Given the description of an element on the screen output the (x, y) to click on. 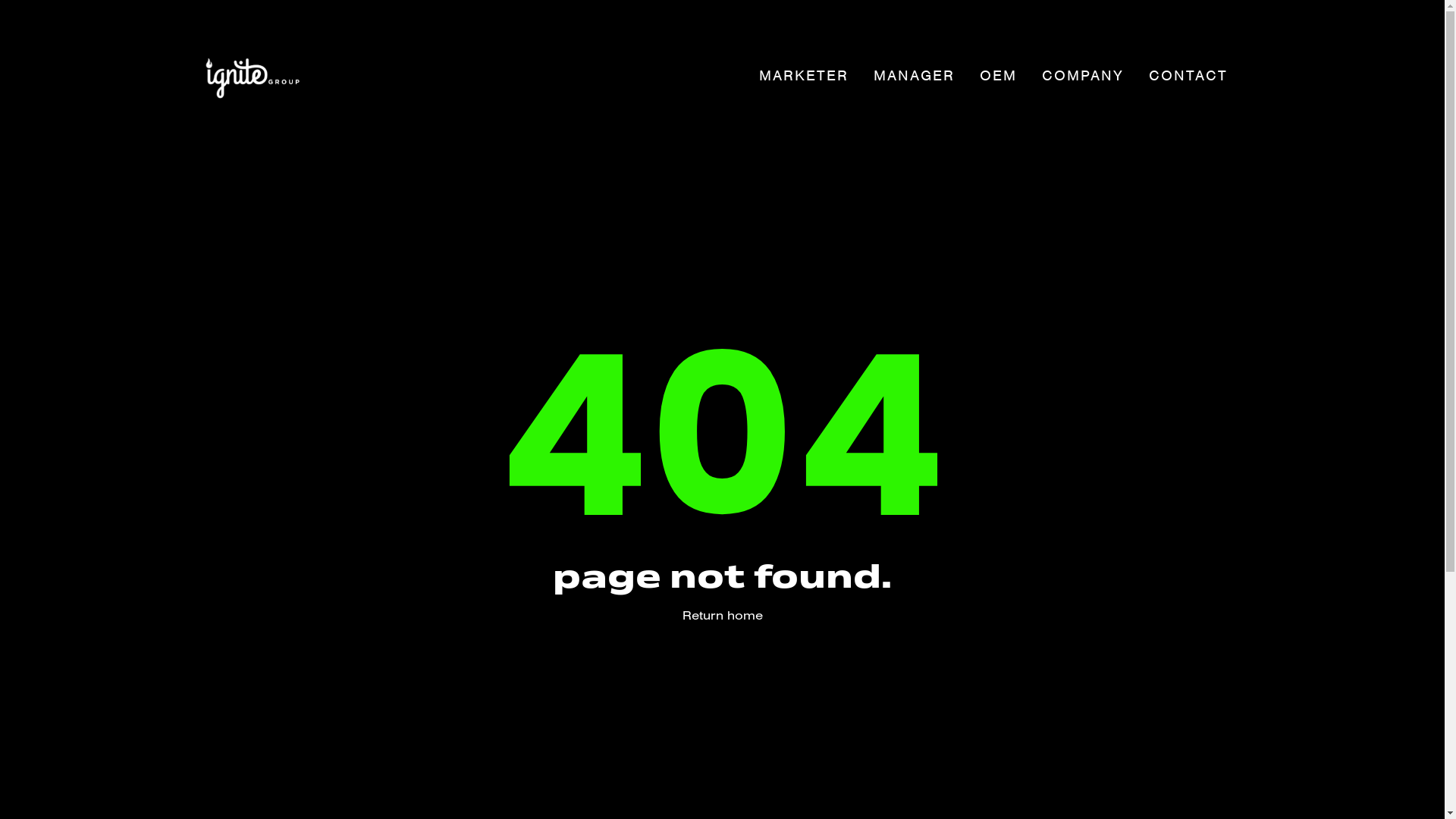
MANAGER Element type: text (914, 75)
OEM Element type: text (998, 75)
CONTACT Element type: text (1187, 75)
Return home Element type: text (722, 614)
COMPANY Element type: text (1082, 75)
MARKETER Element type: text (803, 75)
